Given the description of an element on the screen output the (x, y) to click on. 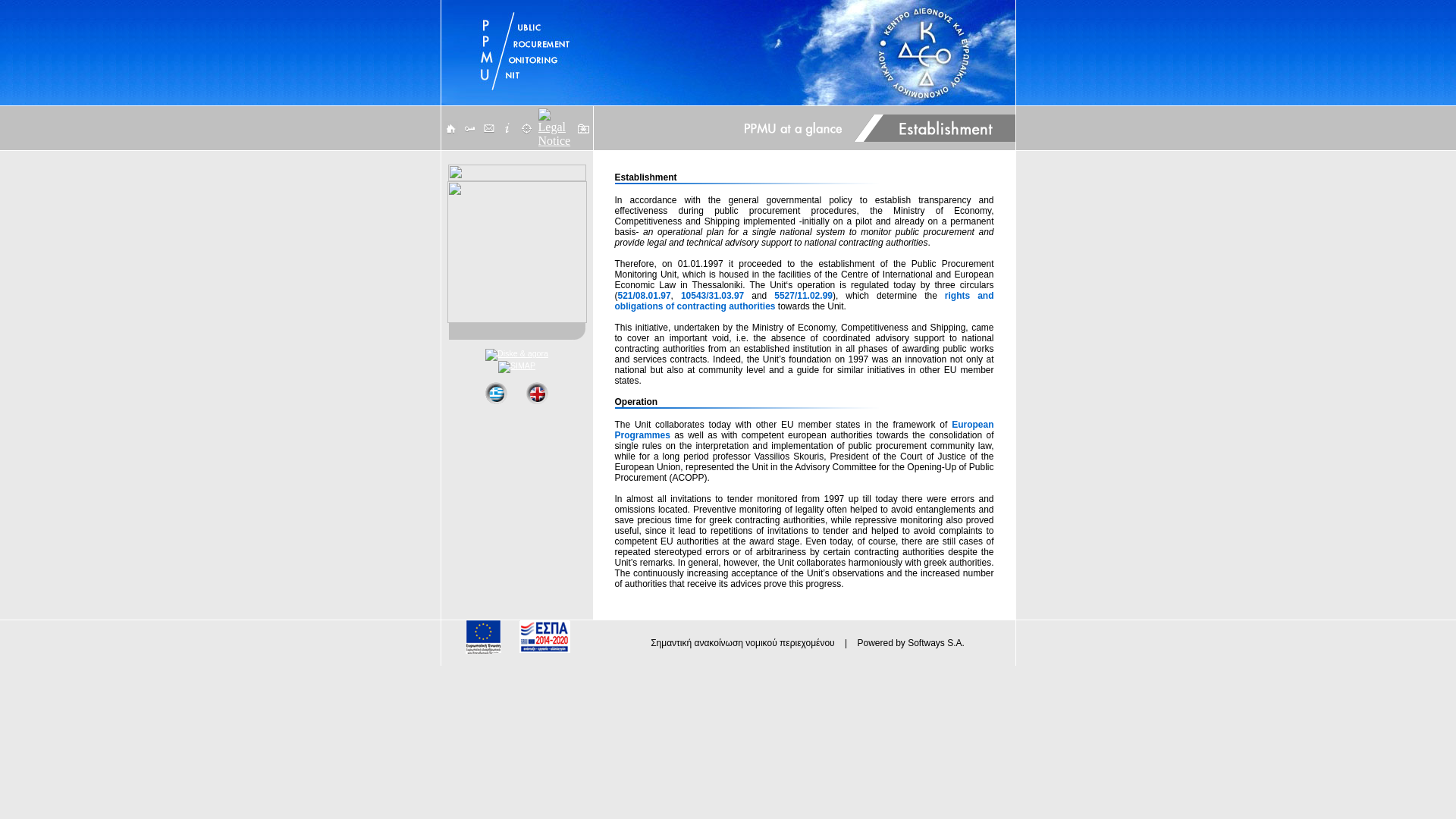
Site map (525, 128)
Register (470, 128)
rights and obligations of contracting authorities (803, 301)
Powered by Softways S.A. (910, 643)
SIMAP (516, 367)
Help (507, 128)
European Programmes (803, 429)
Contact (487, 128)
Home Page (449, 128)
